Given the description of an element on the screen output the (x, y) to click on. 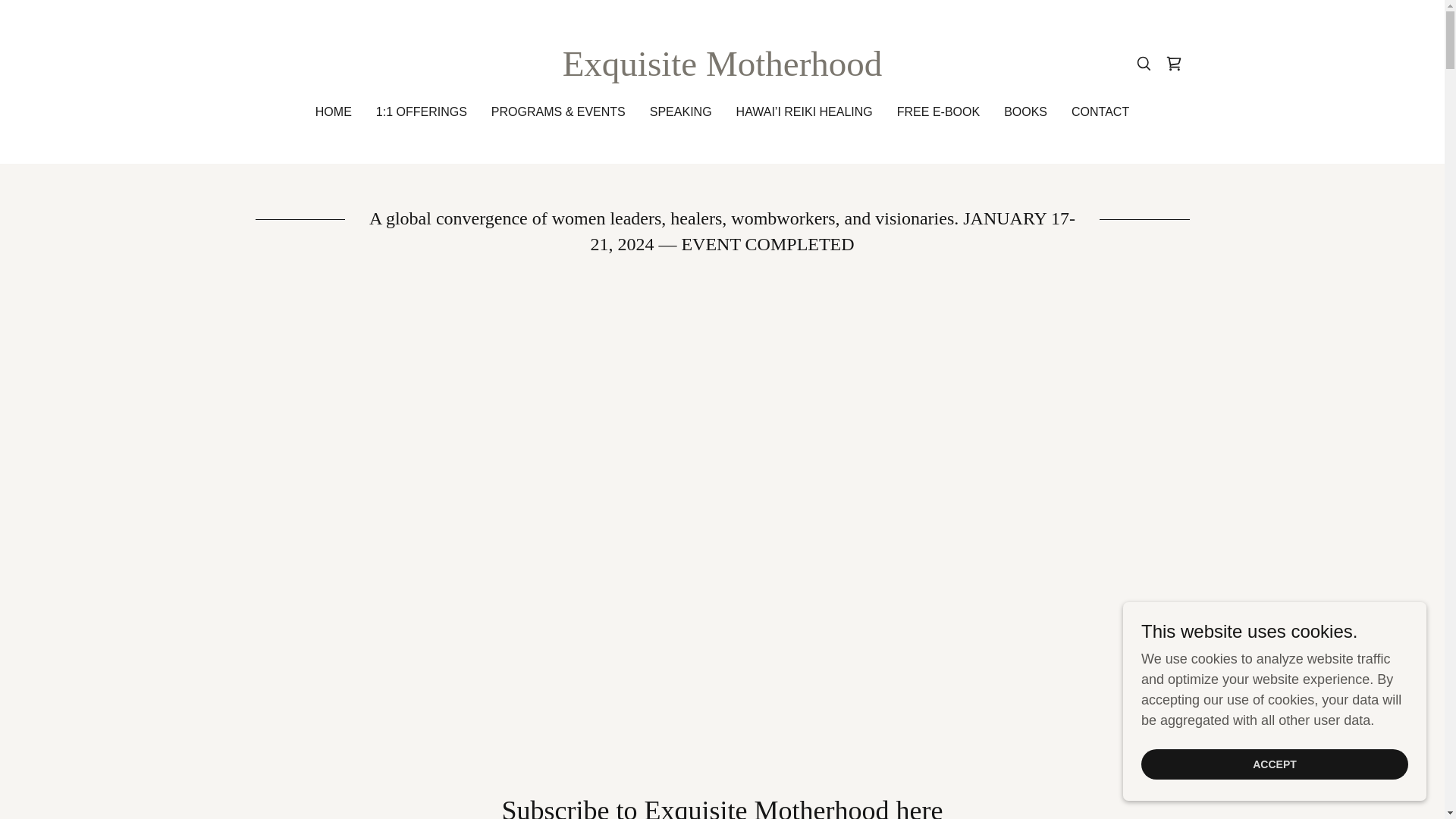
HOME (333, 112)
Exquisite Motherhood (722, 70)
SPEAKING (680, 112)
Exquisite Motherhood  (722, 70)
1:1 OFFERINGS (421, 112)
CONTACT (1100, 112)
BOOKS (1024, 112)
FREE E-BOOK (938, 112)
